Given the description of an element on the screen output the (x, y) to click on. 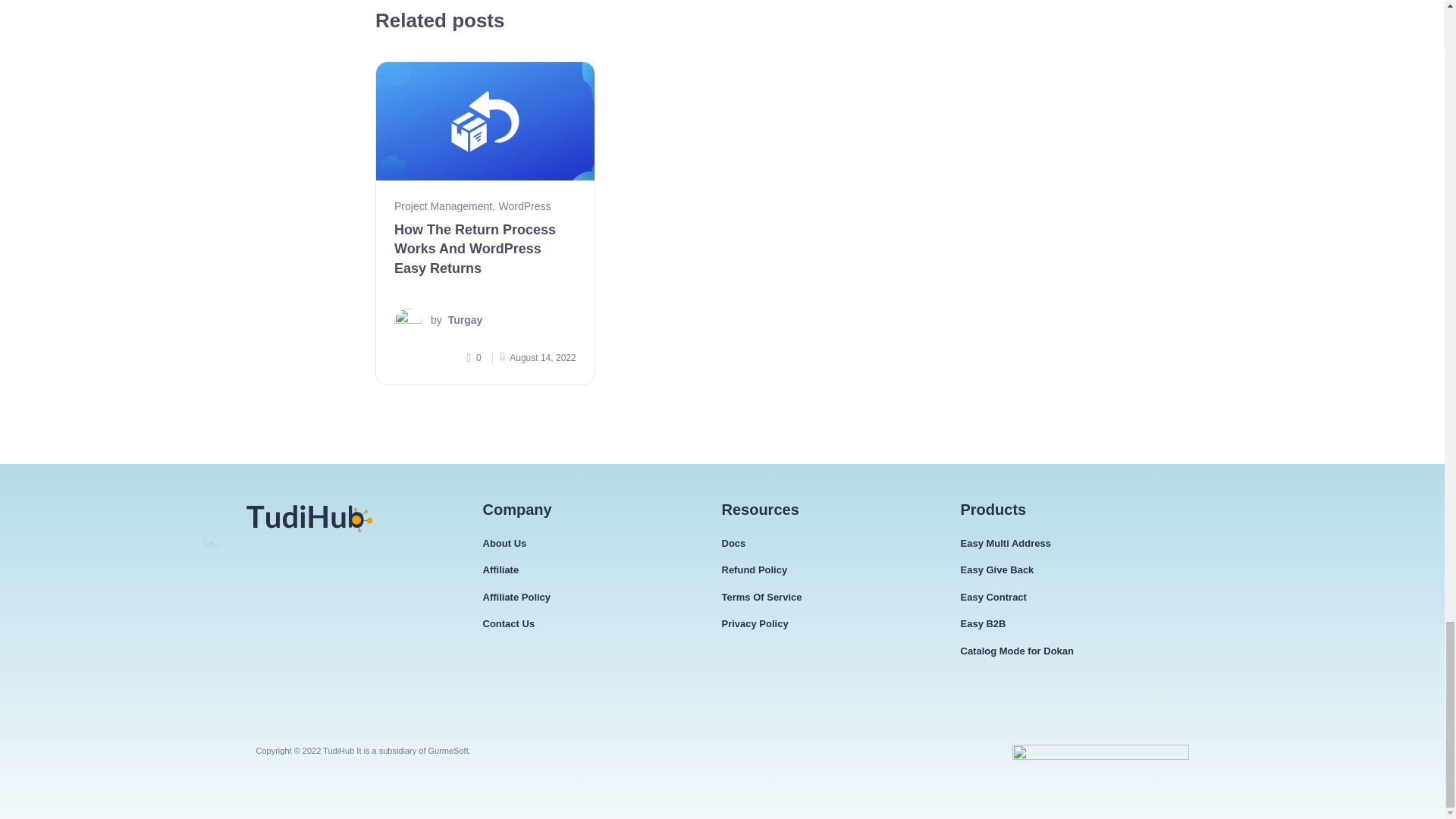
Easy Give Back (996, 569)
Privacy Policy (755, 623)
About Us (503, 543)
Terms Of Service (762, 597)
Affiliate (499, 569)
Affiliate Policy (515, 597)
Docs (733, 543)
Contact Us (507, 623)
Refund Policy (754, 569)
Easy Multi Address (1004, 543)
